Given the description of an element on the screen output the (x, y) to click on. 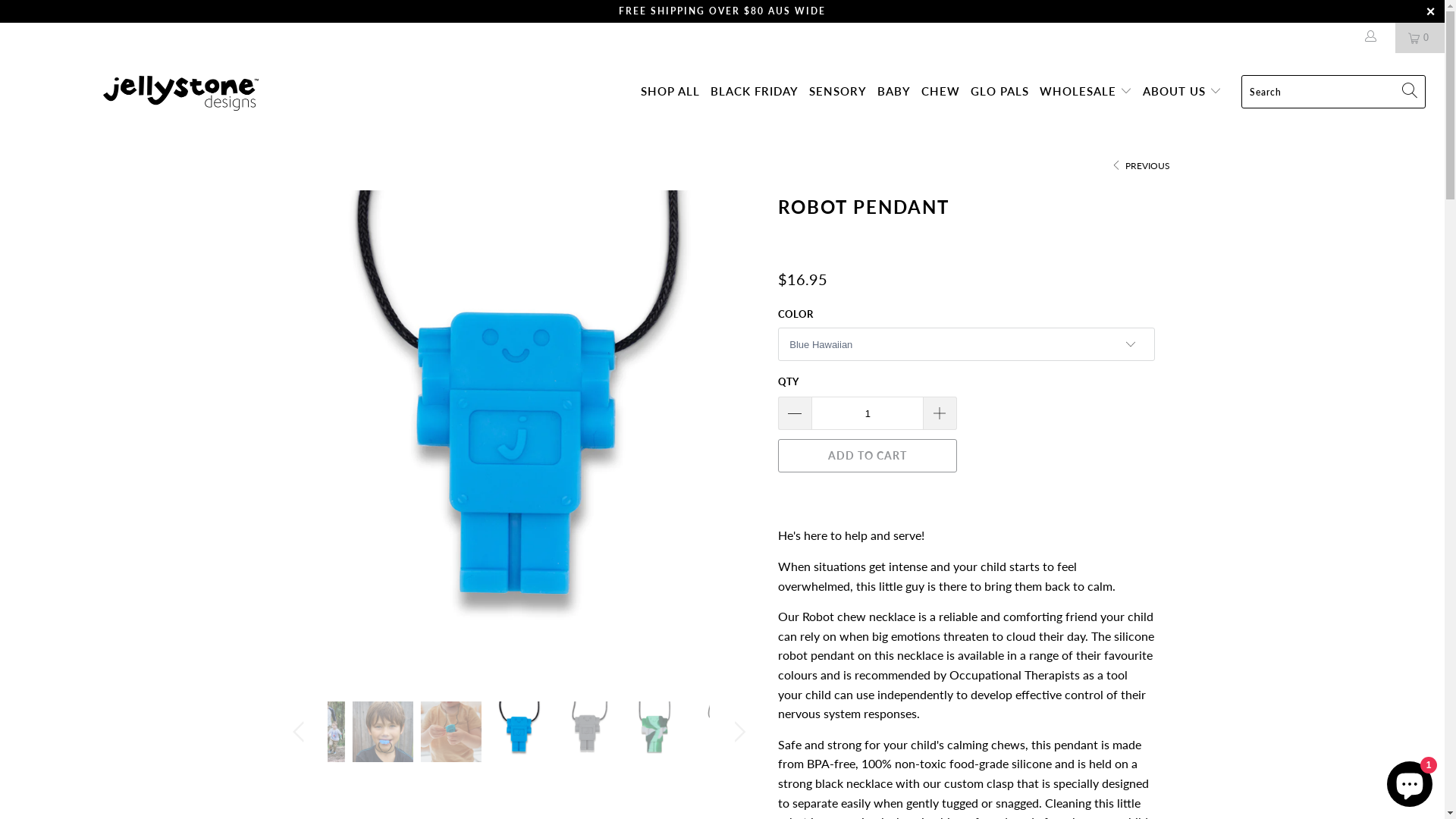
Jellystone Designs Element type: hover (180, 93)
BABY Element type: text (893, 91)
SHOP ALL Element type: text (669, 91)
Shopify online store chat Element type: hover (1409, 780)
GLO PALS Element type: text (999, 91)
BLACK FRIDAY Element type: text (754, 91)
PREVIOUS Element type: text (1139, 164)
WHOLESALE Element type: text (1085, 91)
ABOUT US Element type: text (1181, 91)
My Account  Element type: hover (1373, 37)
SENSORY Element type: text (837, 91)
0 Element type: text (1419, 37)
ADD TO CART Element type: text (867, 455)
CHEW Element type: text (940, 91)
